Given the description of an element on the screen output the (x, y) to click on. 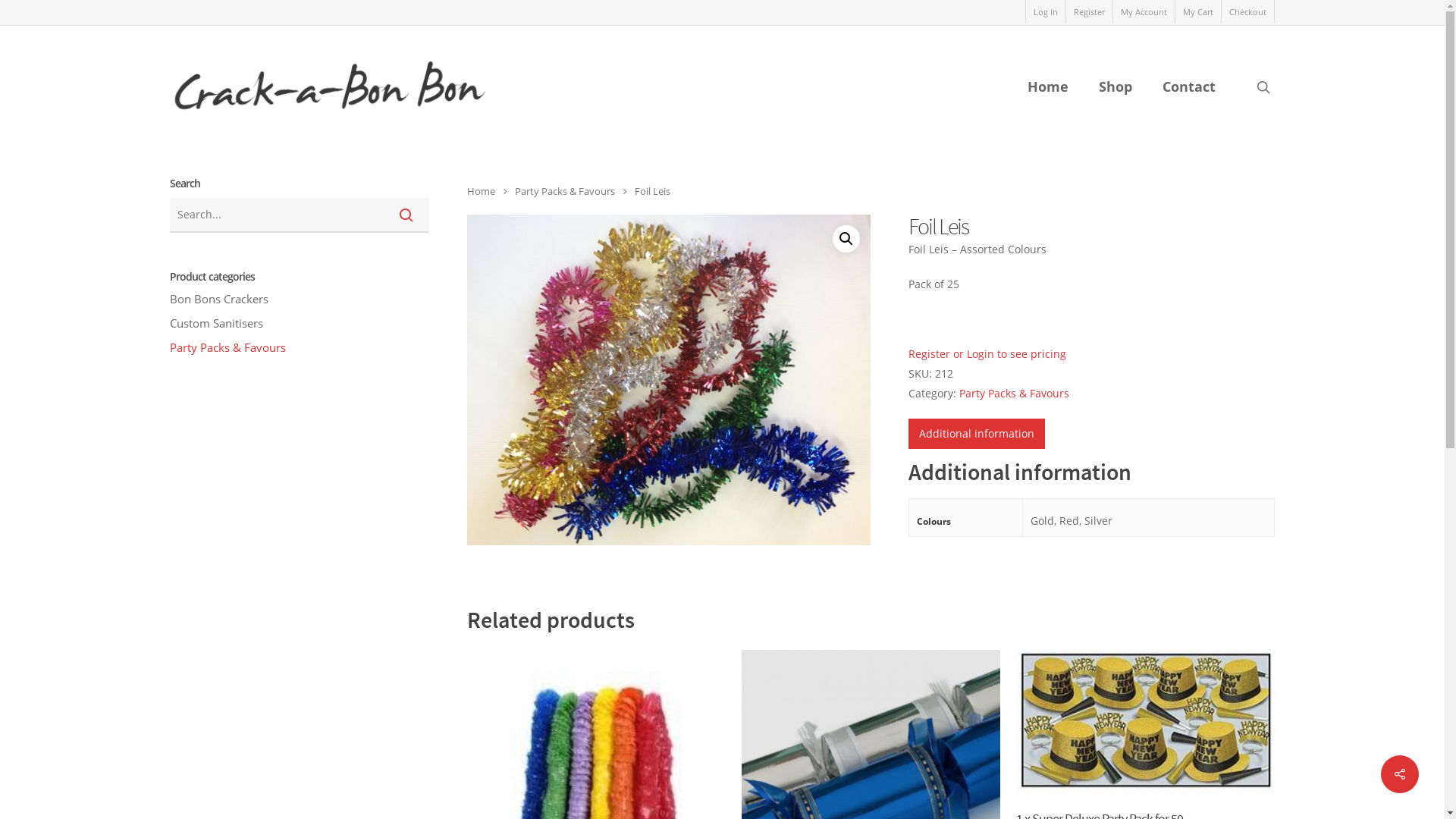
Party Packs & Favours Element type: text (299, 346)
My Cart Element type: text (1197, 11)
Home Element type: text (481, 190)
Log In Element type: text (1045, 11)
Register or Login to see pricing Element type: text (987, 353)
Custom Sanitisers Element type: text (299, 322)
Bon Bons Crackers Element type: text (299, 298)
Search for: Element type: hover (299, 214)
Register Element type: text (1088, 11)
56Pic Element type: hover (669, 379)
Contact Element type: text (1188, 86)
Party Packs & Favours Element type: text (1014, 392)
Party Packs & Favours Element type: text (564, 190)
Additional information Element type: text (976, 433)
Shop Element type: text (1115, 86)
Checkout Element type: text (1247, 11)
My Account Element type: text (1143, 11)
Home Element type: text (1047, 86)
